Given the description of an element on the screen output the (x, y) to click on. 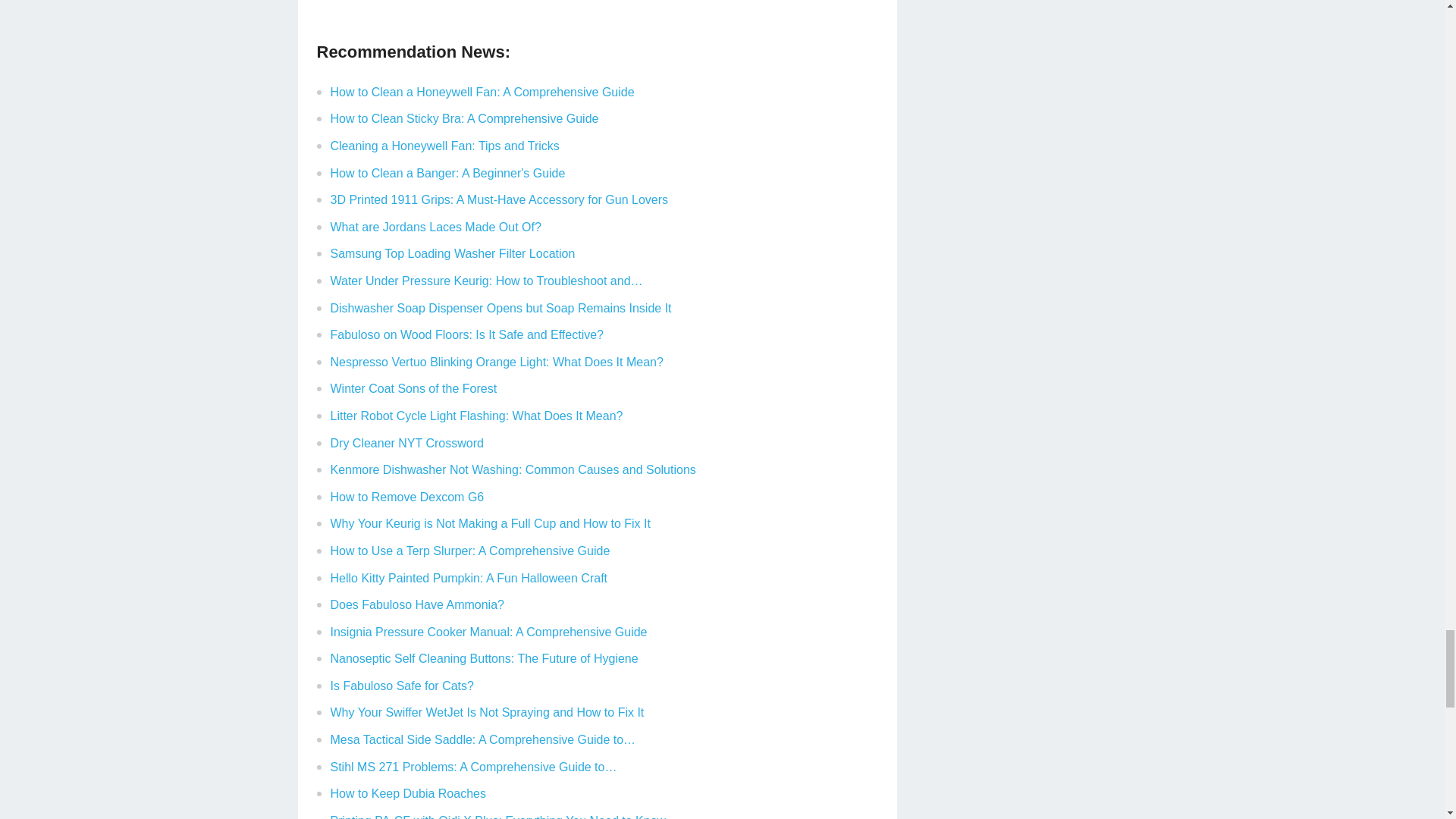
Samsung Top Loading Washer Filter Location (452, 253)
3D Printed 1911 Grips: A Must-Have Accessory for Gun Lovers (499, 199)
Litter Robot Cycle Light Flashing: What Does It Mean? (476, 415)
How to Clean a Banger: A Beginner's Guide (448, 173)
Dishwasher Soap Dispenser Opens but Soap Remains Inside It (500, 308)
What are Jordans Laces Made Out Of? (435, 226)
Cleaning a Honeywell Fan: Tips and Tricks (444, 145)
How to Clean a Honeywell Fan: A Comprehensive Guide (482, 91)
Nespresso Vertuo Blinking Orange Light: What Does It Mean? (496, 361)
How to Clean Sticky Bra: A Comprehensive Guide (464, 118)
